Given the description of an element on the screen output the (x, y) to click on. 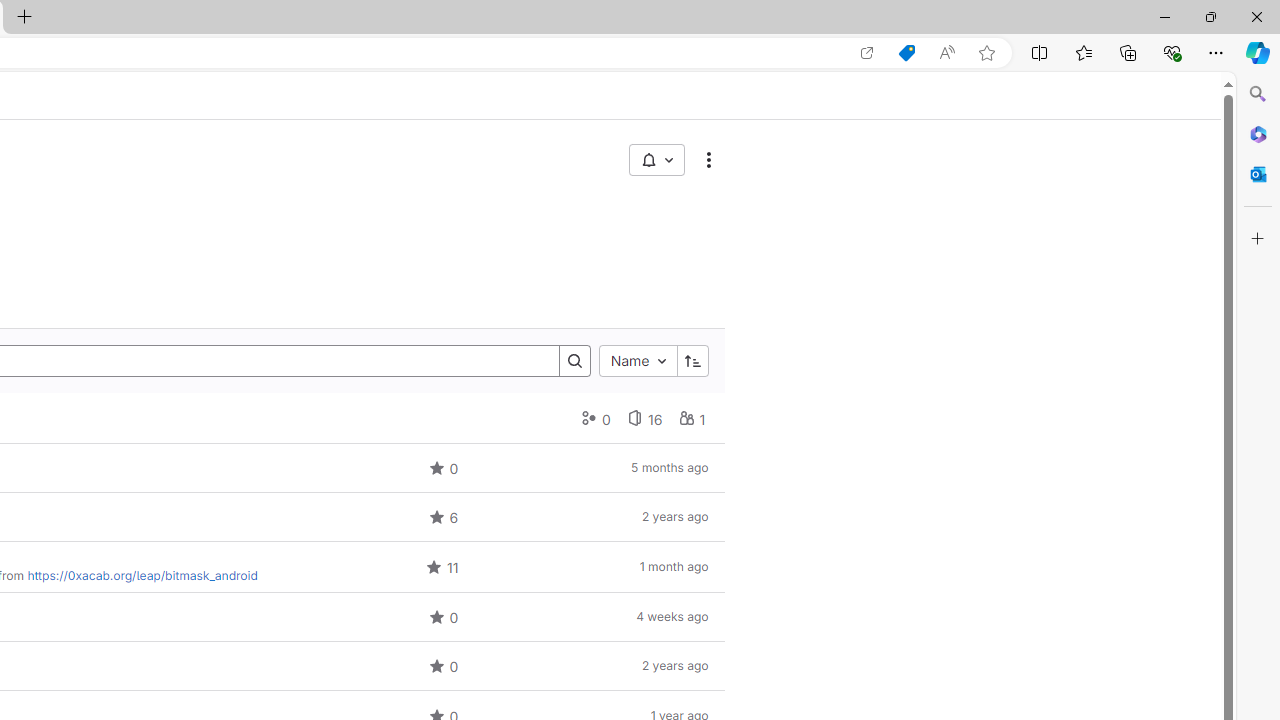
Open in app (867, 53)
Name (637, 360)
AutomationID: __BVID__308__BV_toggle_ (656, 159)
